Given the description of an element on the screen output the (x, y) to click on. 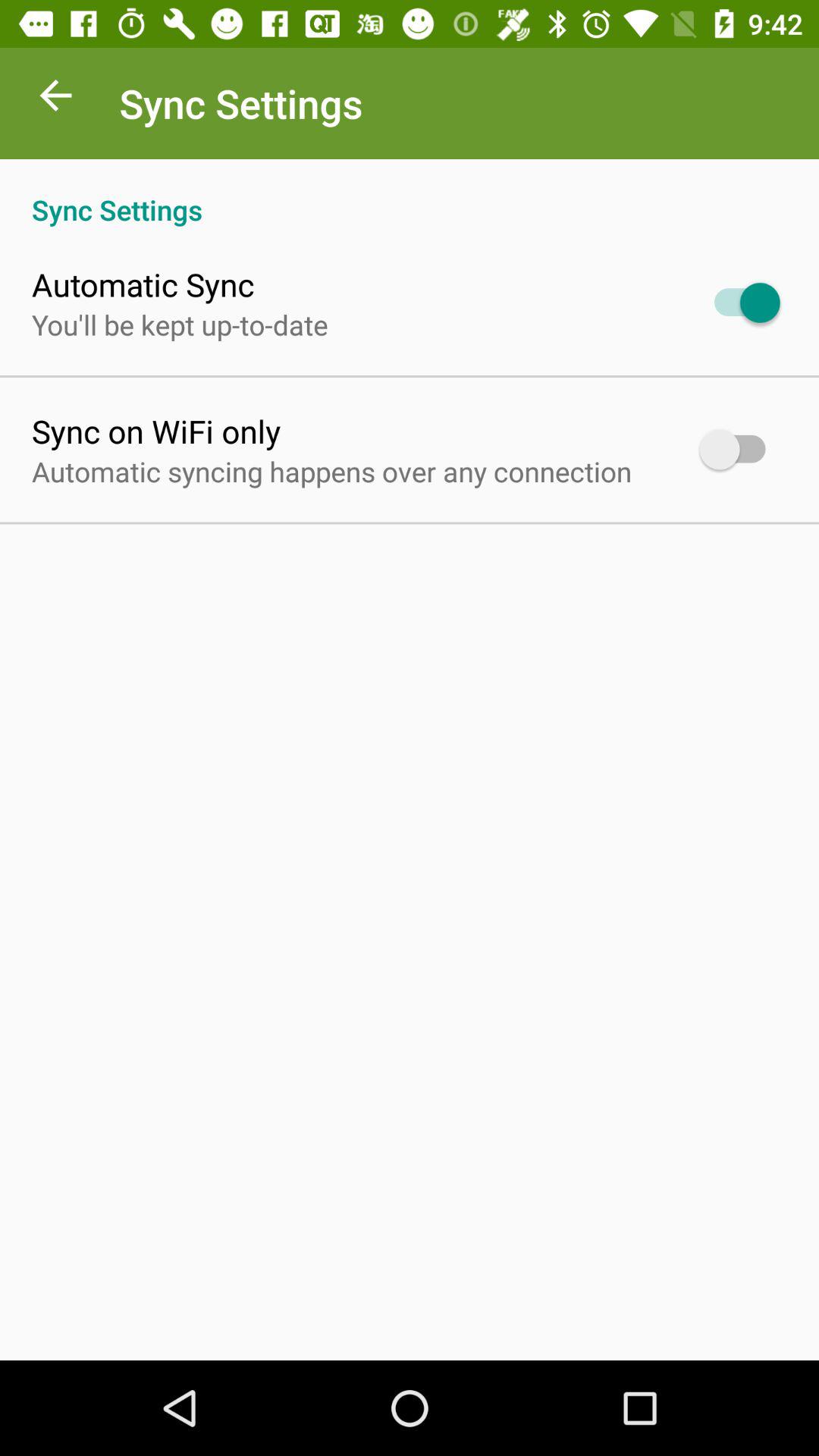
launch the automatic sync app (142, 283)
